Given the description of an element on the screen output the (x, y) to click on. 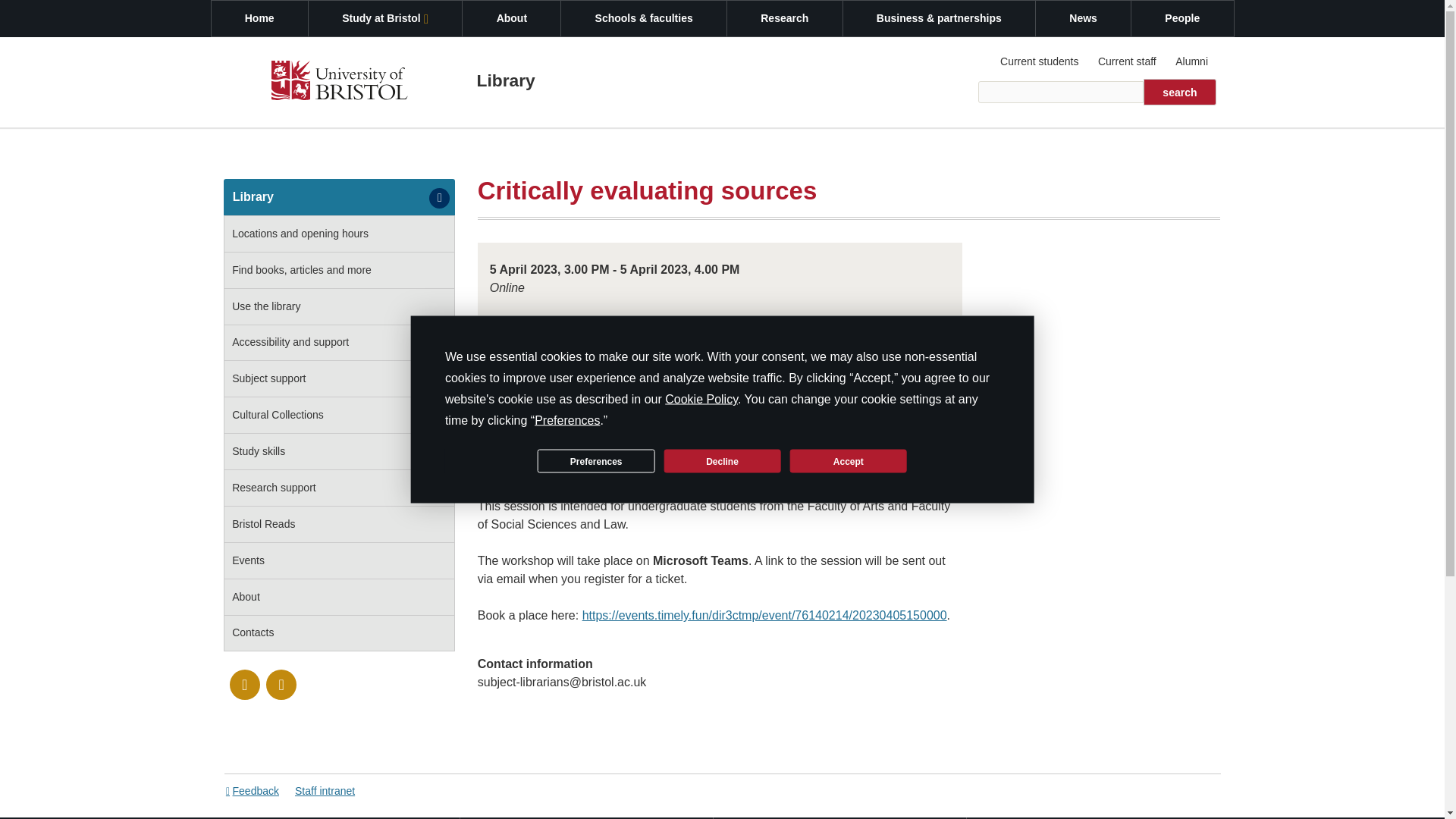
About (511, 18)
Cultural Collections (339, 415)
Accessibility and support (339, 343)
Study skills (339, 452)
Preferences (595, 460)
About (339, 597)
Homepage (338, 82)
Home (259, 18)
Twitter (245, 684)
Locations and opening hours (339, 234)
Instagram (281, 684)
Use the library (339, 307)
People (1182, 18)
Subject support (339, 379)
Study at Bristol (384, 18)
